Given the description of an element on the screen output the (x, y) to click on. 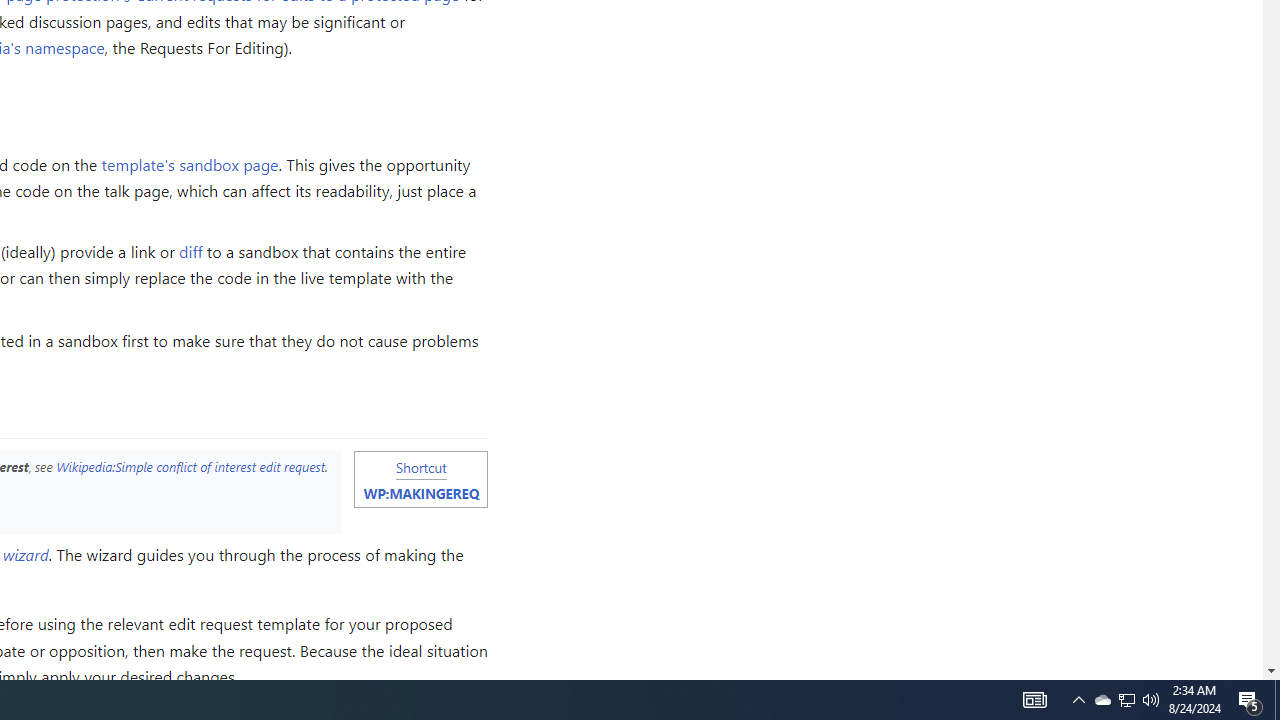
Shortcut (420, 466)
template's sandbox page (190, 163)
diff (191, 251)
WP:MAKINGEREQ (420, 493)
Wikipedia:Simple conflict of interest edit request (190, 466)
